Given the description of an element on the screen output the (x, y) to click on. 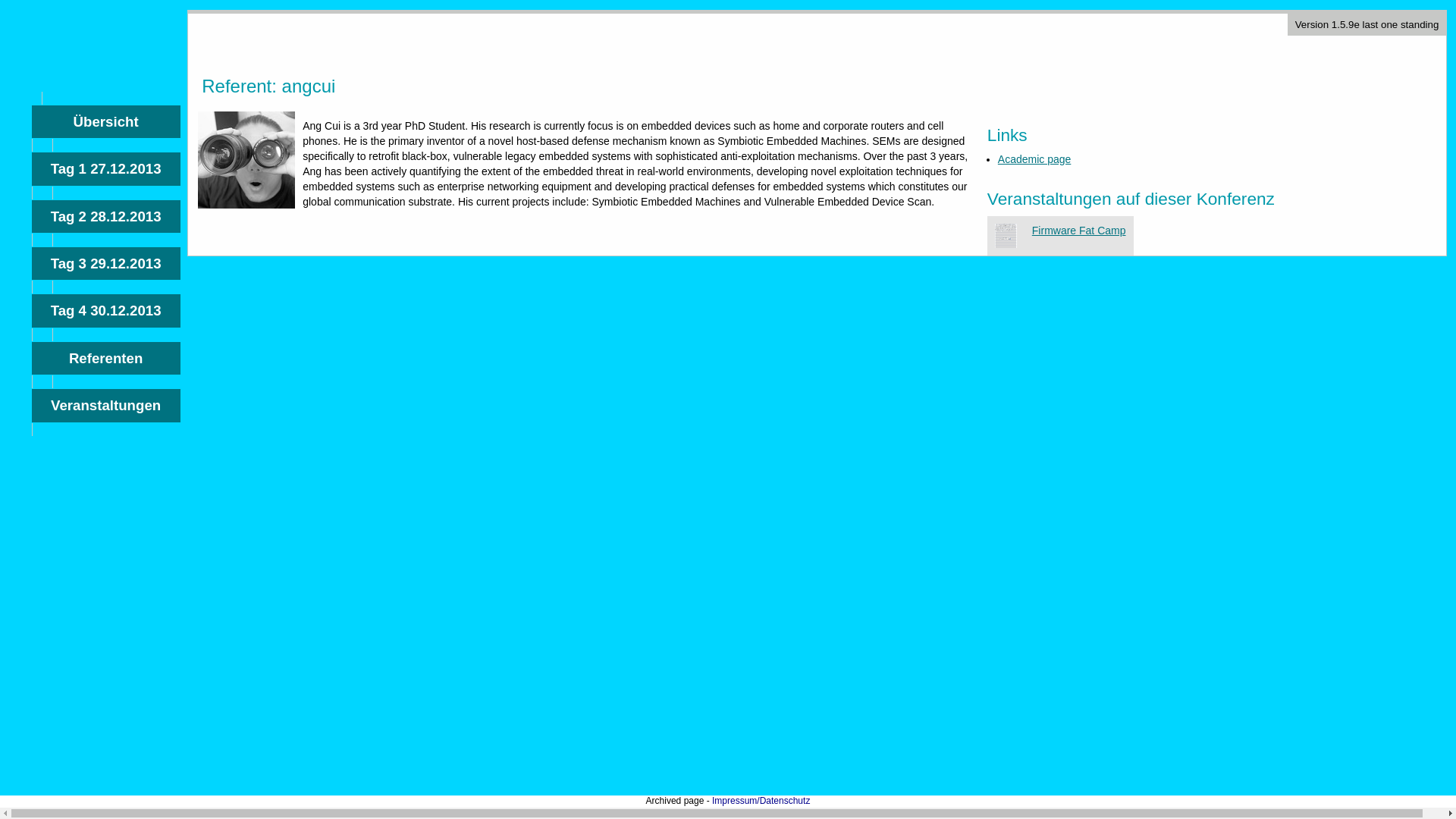
Firmware Fat Camp (106, 310)
Veranstaltungen (1078, 230)
Referenten (106, 215)
Academic page (106, 263)
